Given the description of an element on the screen output the (x, y) to click on. 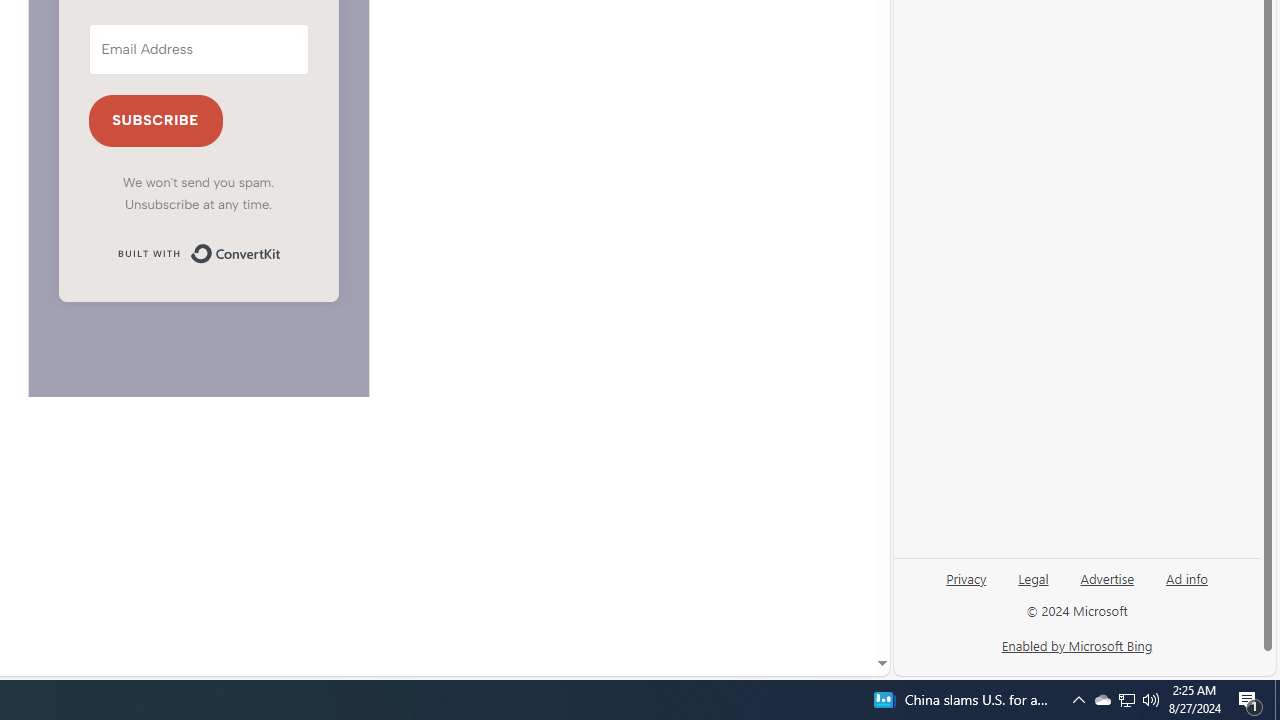
Ad info (1187, 577)
Built with ConvertKit (198, 254)
Legal (1033, 586)
Ad info (1186, 586)
Email Address (198, 49)
SUBSCRIBE (156, 121)
Legal (1033, 577)
